Given the description of an element on the screen output the (x, y) to click on. 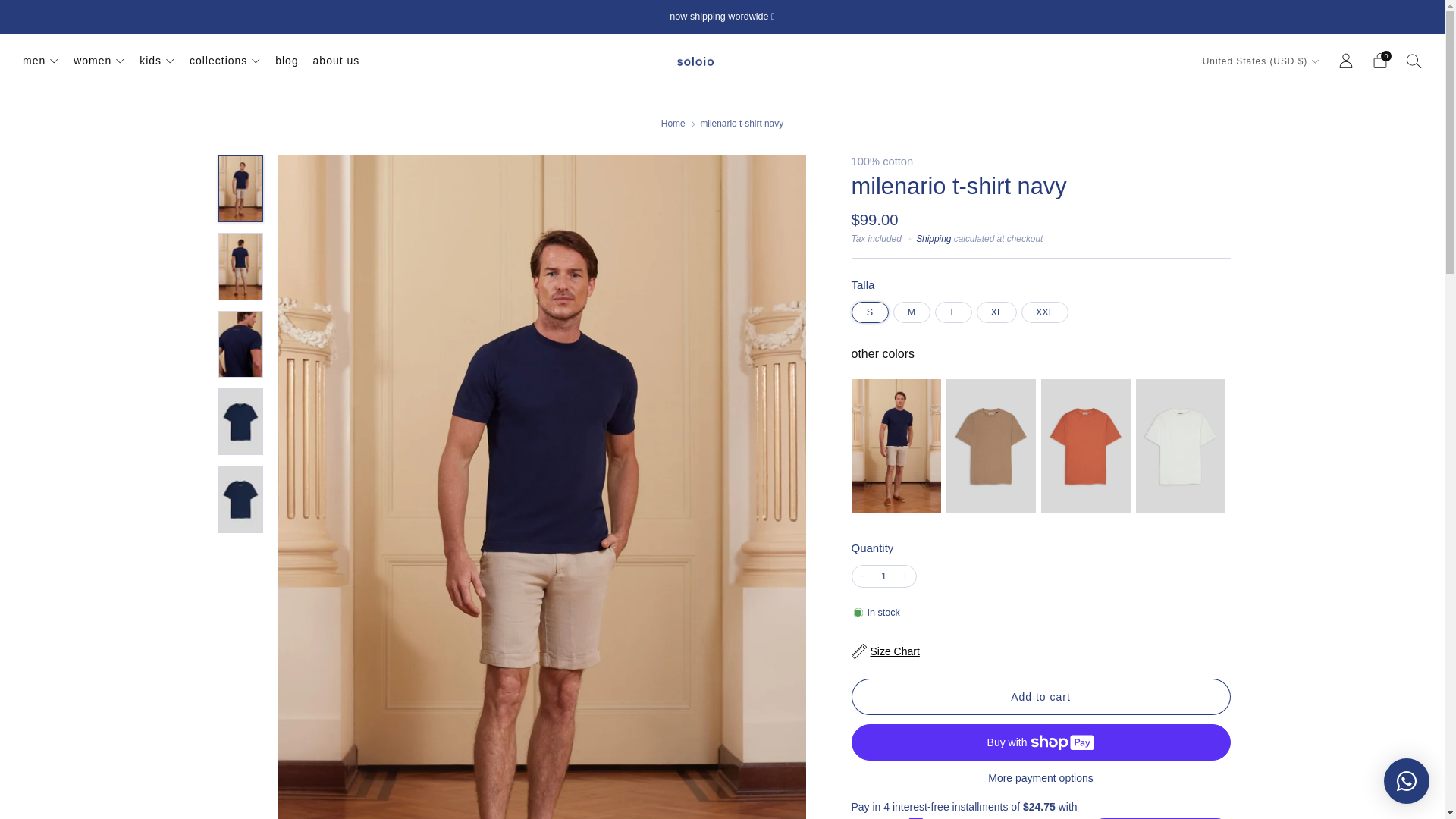
M (913, 308)
Home (673, 122)
1 (884, 576)
XXL (1047, 308)
XL (999, 308)
L (954, 308)
S (871, 308)
